Given the description of an element on the screen output the (x, y) to click on. 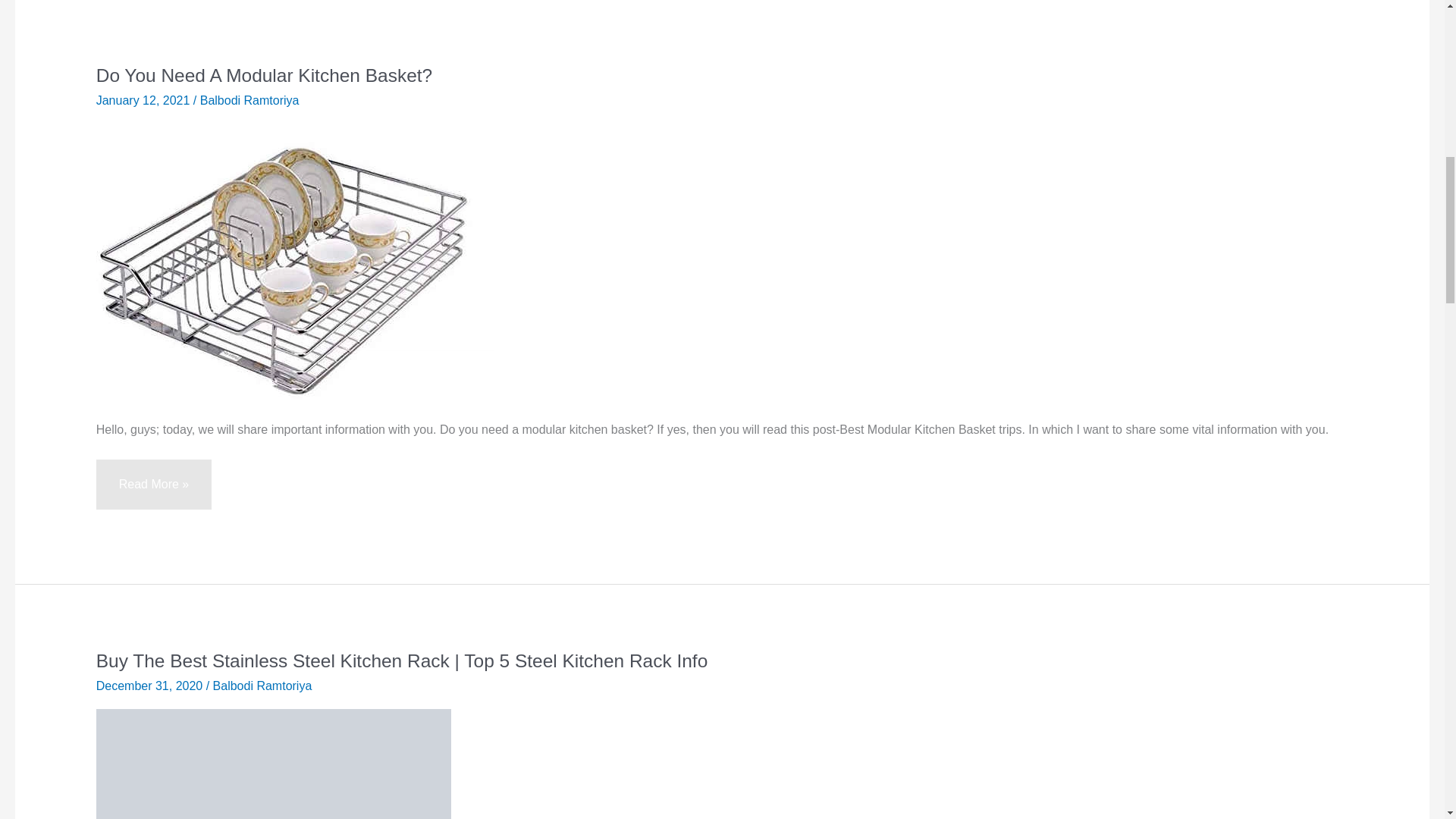
View all posts by Balbodi Ramtoriya (262, 685)
Balbodi Ramtoriya (262, 685)
View all posts by Balbodi Ramtoriya (249, 100)
Balbodi Ramtoriya (249, 100)
Do You Need A Modular Kitchen Basket? (264, 75)
